Given the description of an element on the screen output the (x, y) to click on. 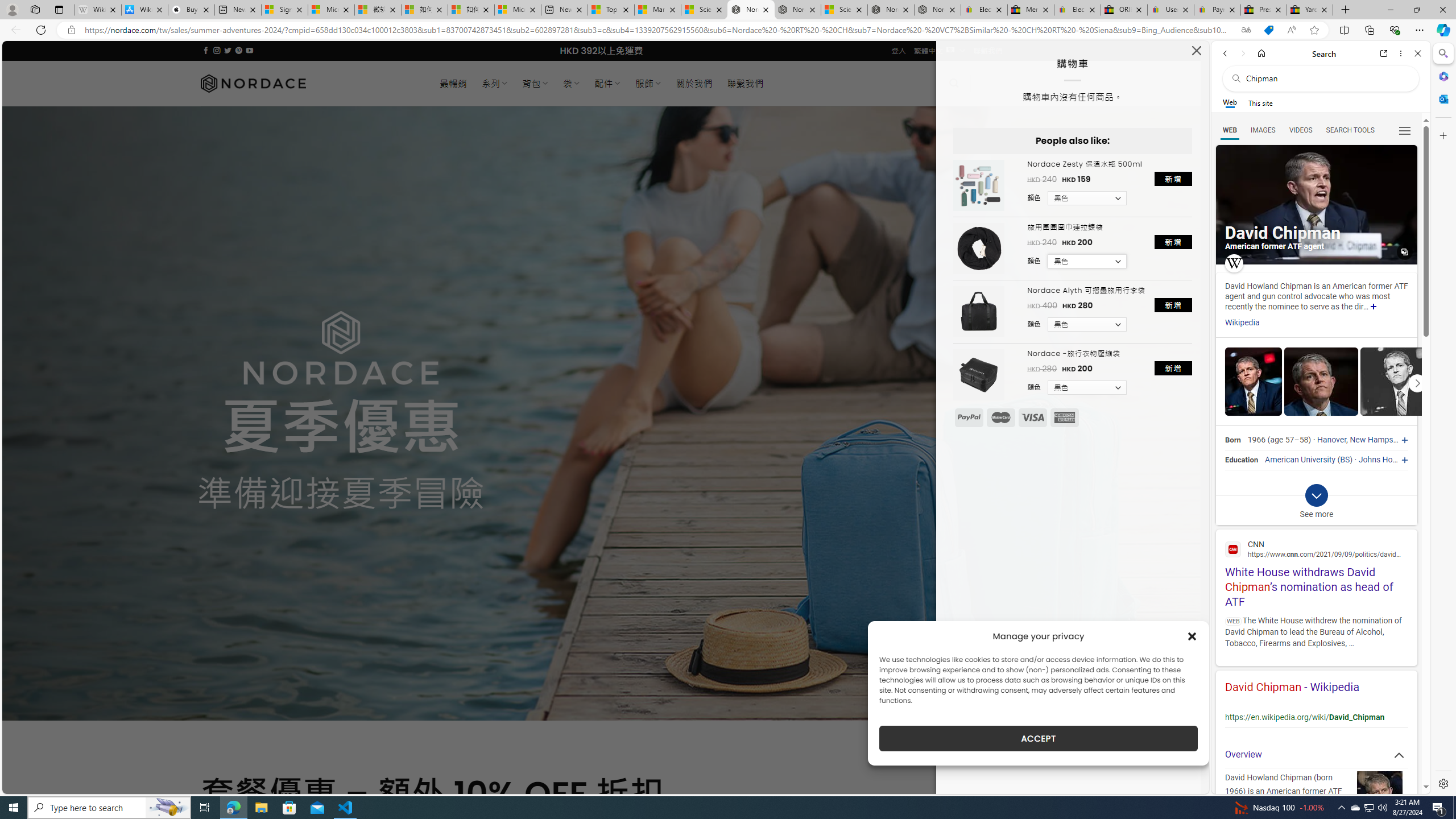
Close (1417, 53)
Copilot (Ctrl+Shift+.) (1442, 29)
Web scope (1230, 102)
Johns Hopkins University (1403, 460)
Search Filter, VIDEOS (1300, 129)
Overview (1315, 755)
Add this page to favorites (Ctrl+D) (1314, 29)
Settings and more (Alt+F) (1419, 29)
Follow on Instagram (216, 50)
Tab actions menu (58, 9)
Search (1442, 53)
